Given the description of an element on the screen output the (x, y) to click on. 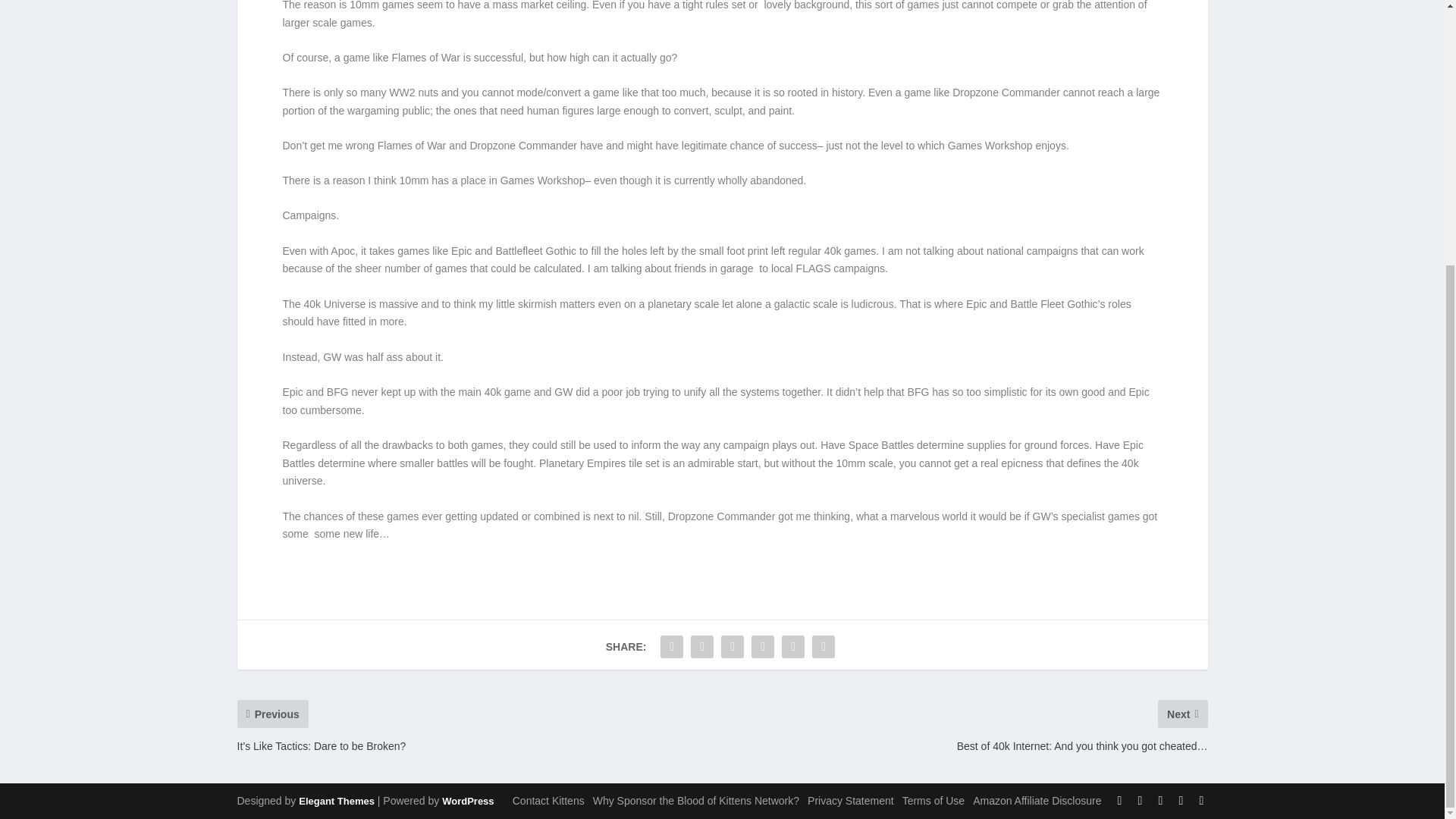
Elegant Themes (336, 800)
Why Sponsor the Blood of Kittens Network? (695, 800)
Privacy Statement (850, 800)
Share "Meat for Meta: Missing the 10mm?" via Print (823, 646)
Terms of Use (932, 800)
Share "Meat for Meta: Missing the 10mm?" via Email (792, 646)
WordPress (467, 800)
Share "Meat for Meta: Missing the 10mm?" via Pinterest (762, 646)
Share "Meat for Meta: Missing the 10mm?" via Facebook (671, 646)
Premium WordPress Themes (336, 800)
